Given the description of an element on the screen output the (x, y) to click on. 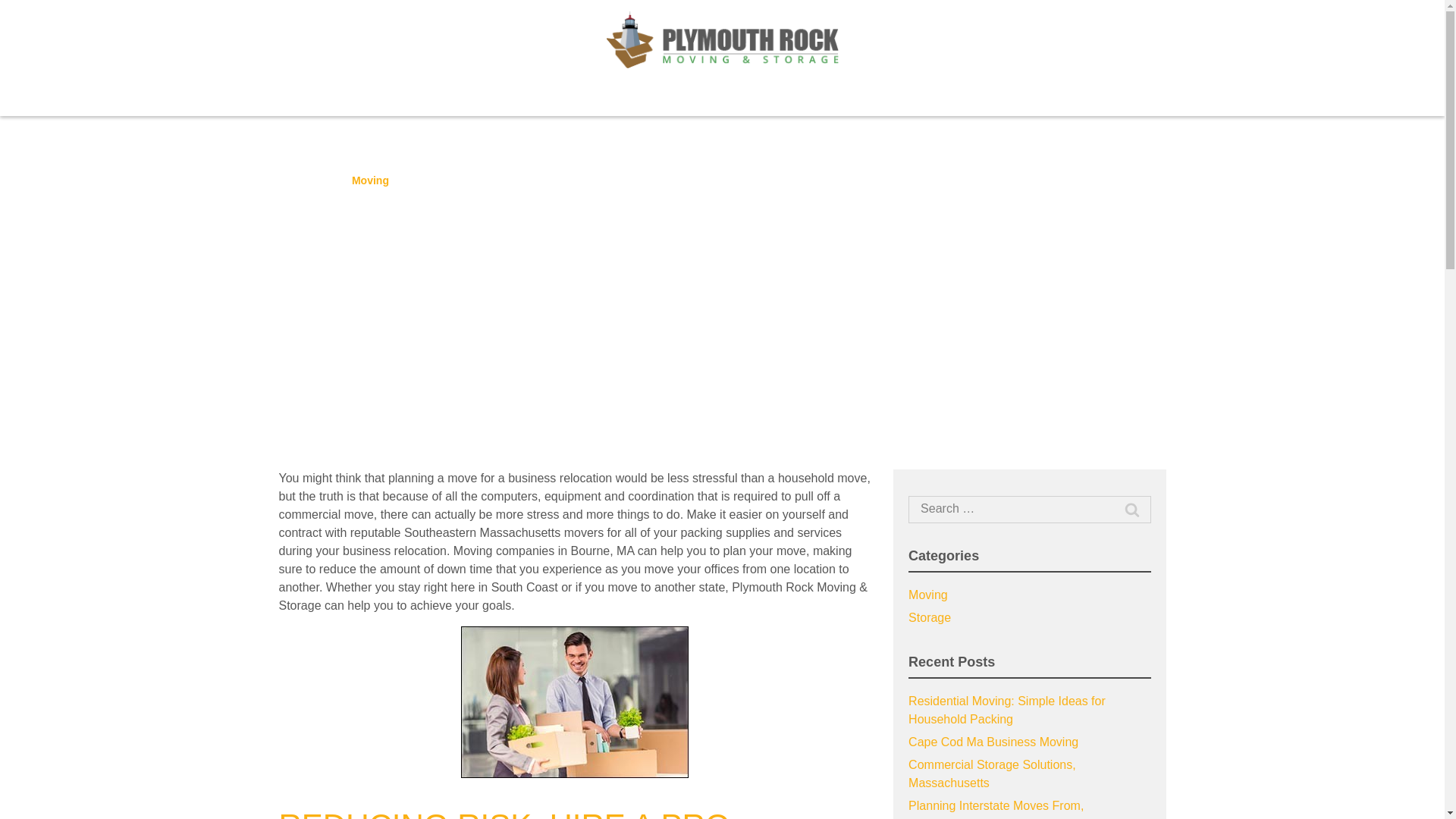
Commercial Storage Solutions, Massachusetts (991, 773)
Residential Moving: Simple Ideas for Household Packing (1006, 709)
Planning Interstate Moves From, Massachusetts (995, 809)
Cape Cod Ma Business Moving (993, 741)
Moving (370, 180)
Search (21, 7)
Moving (927, 594)
Storage (929, 617)
